Given the description of an element on the screen output the (x, y) to click on. 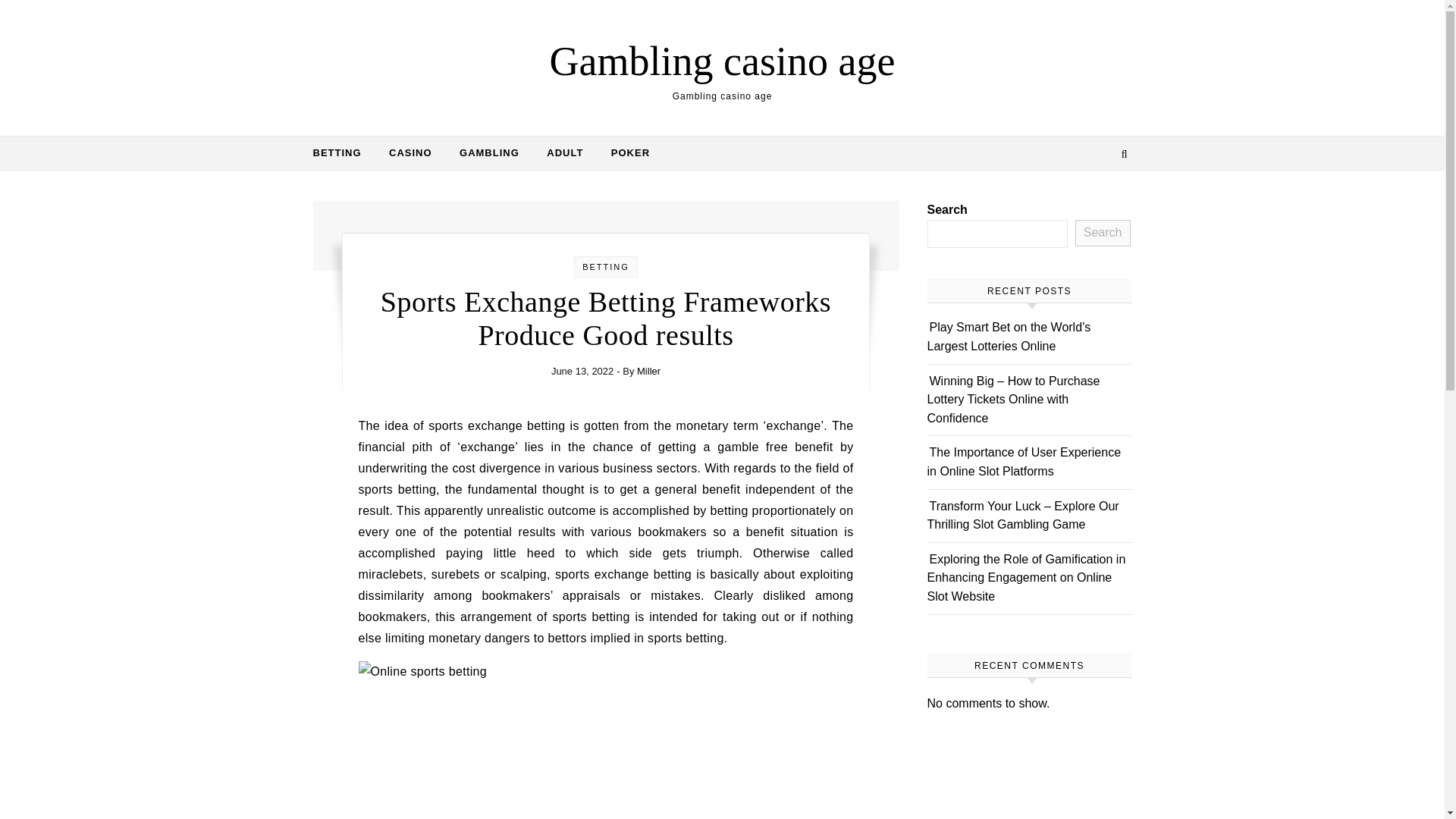
Search (1103, 233)
CASINO (410, 152)
ADULT (564, 152)
BETTING (342, 152)
Miller (649, 370)
The Importance of User Experience in Online Slot Platforms (1023, 461)
POKER (623, 152)
BETTING (605, 266)
GAMBLING (488, 152)
Gambling casino age (722, 61)
